Given the description of an element on the screen output the (x, y) to click on. 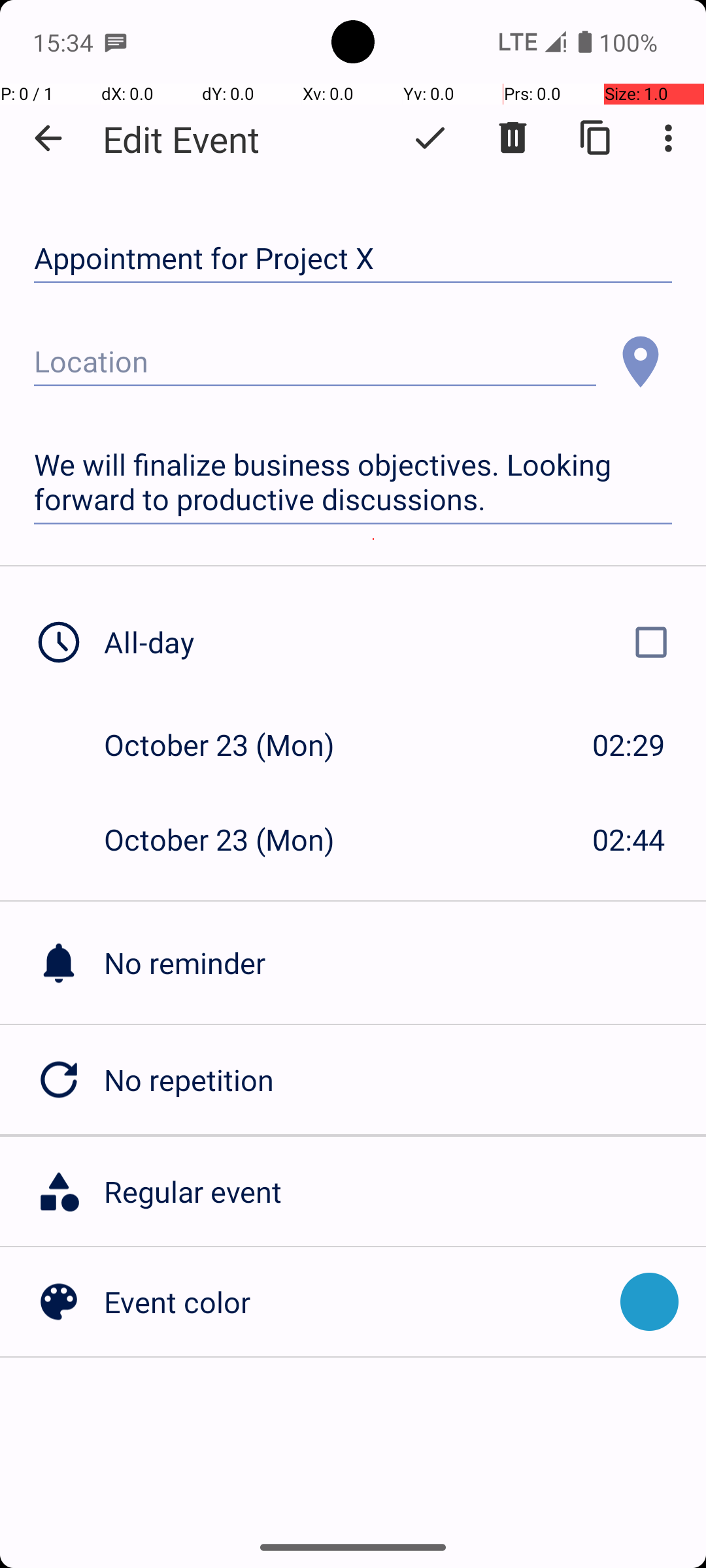
We will finalize business objectives. Looking forward to productive discussions. Element type: android.widget.EditText (352, 482)
October 23 (Mon) Element type: android.widget.TextView (232, 744)
02:29 Element type: android.widget.TextView (628, 744)
02:44 Element type: android.widget.TextView (628, 838)
